Given the description of an element on the screen output the (x, y) to click on. 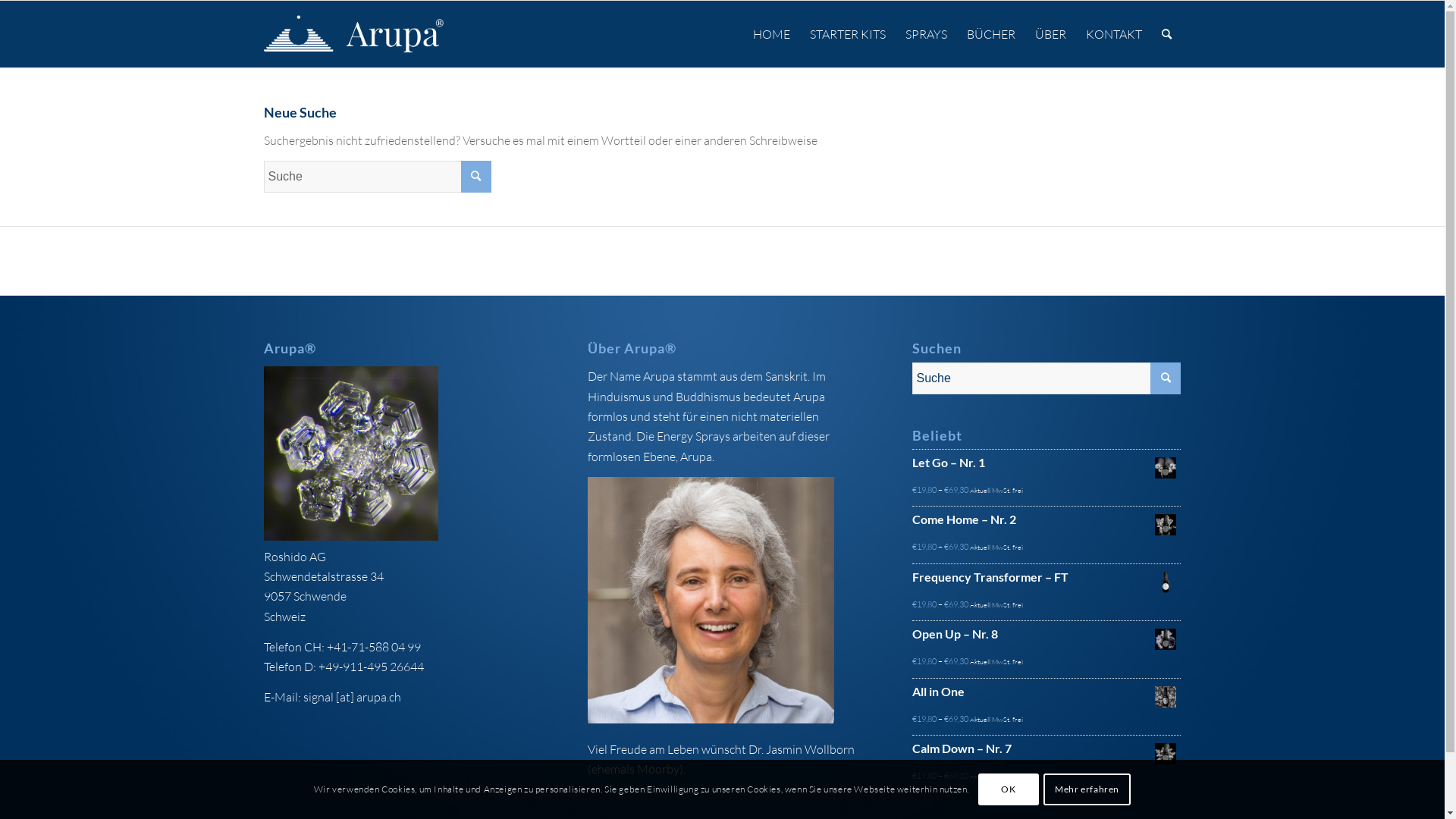
KONTAKT Element type: text (1113, 33)
All in One Element type: text (1046, 696)
Mehr erfahren Element type: text (1086, 789)
HOME Element type: text (771, 33)
OK Element type: text (1008, 789)
STARTER KITS Element type: text (846, 33)
SPRAYS Element type: text (925, 33)
